Given the description of an element on the screen output the (x, y) to click on. 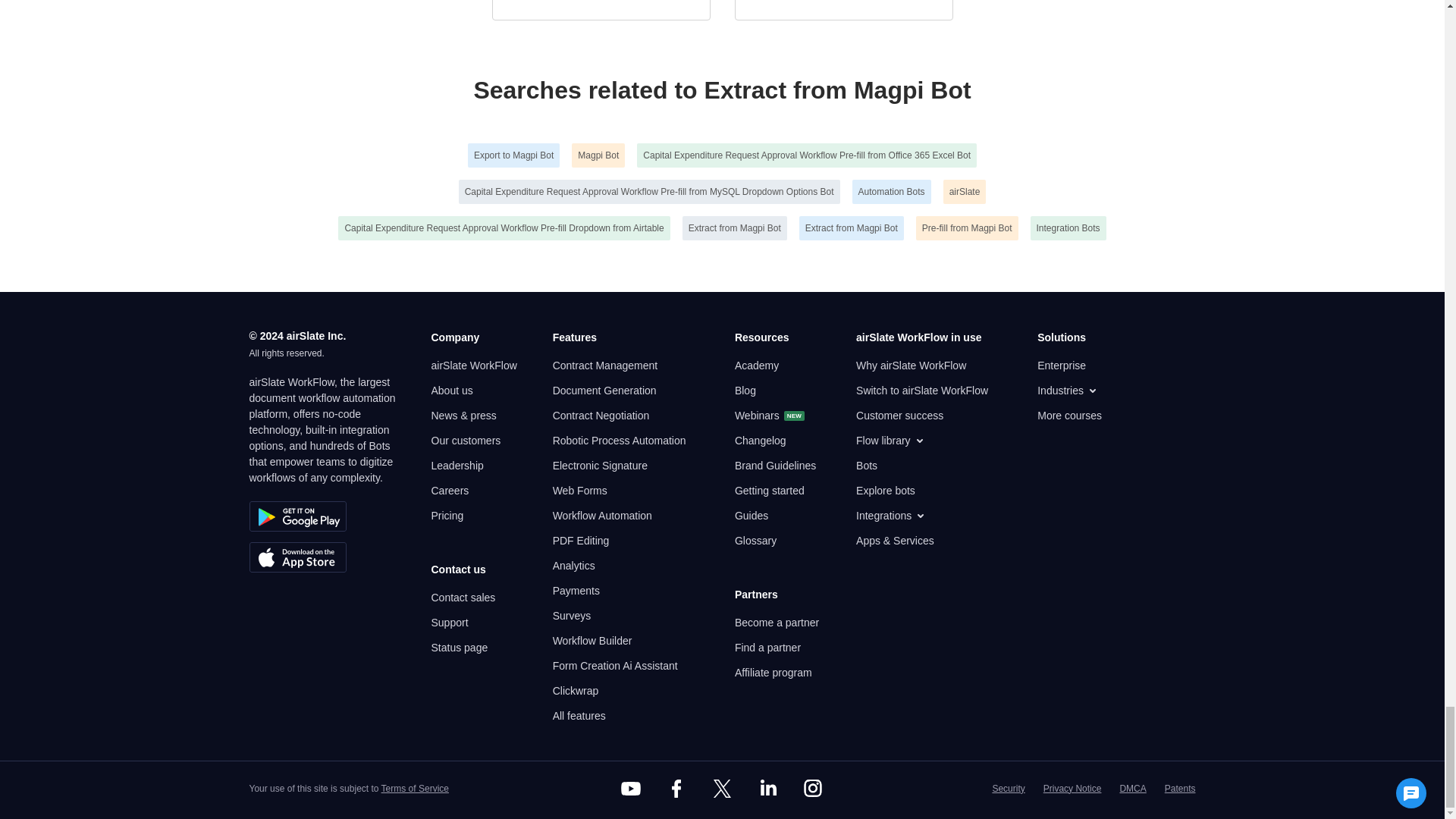
YouTube (630, 788)
Facebook (676, 788)
Instagram (812, 788)
Twitter (721, 788)
LinkedIn (767, 788)
